Given the description of an element on the screen output the (x, y) to click on. 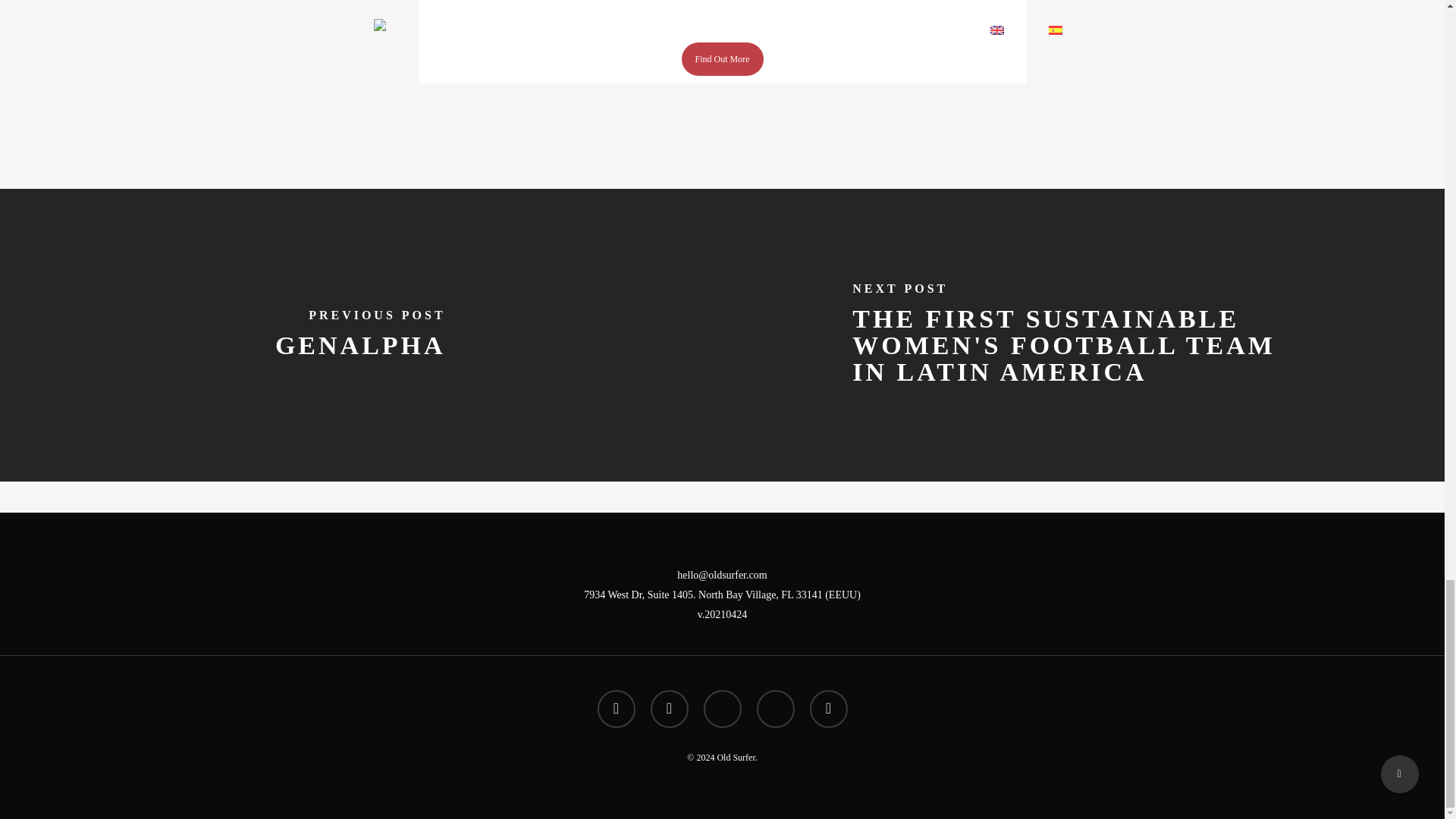
linkedin (669, 709)
Find Out More (721, 59)
facebook (615, 709)
youtube (722, 709)
instagram (775, 709)
spotify (828, 709)
